Given the description of an element on the screen output the (x, y) to click on. 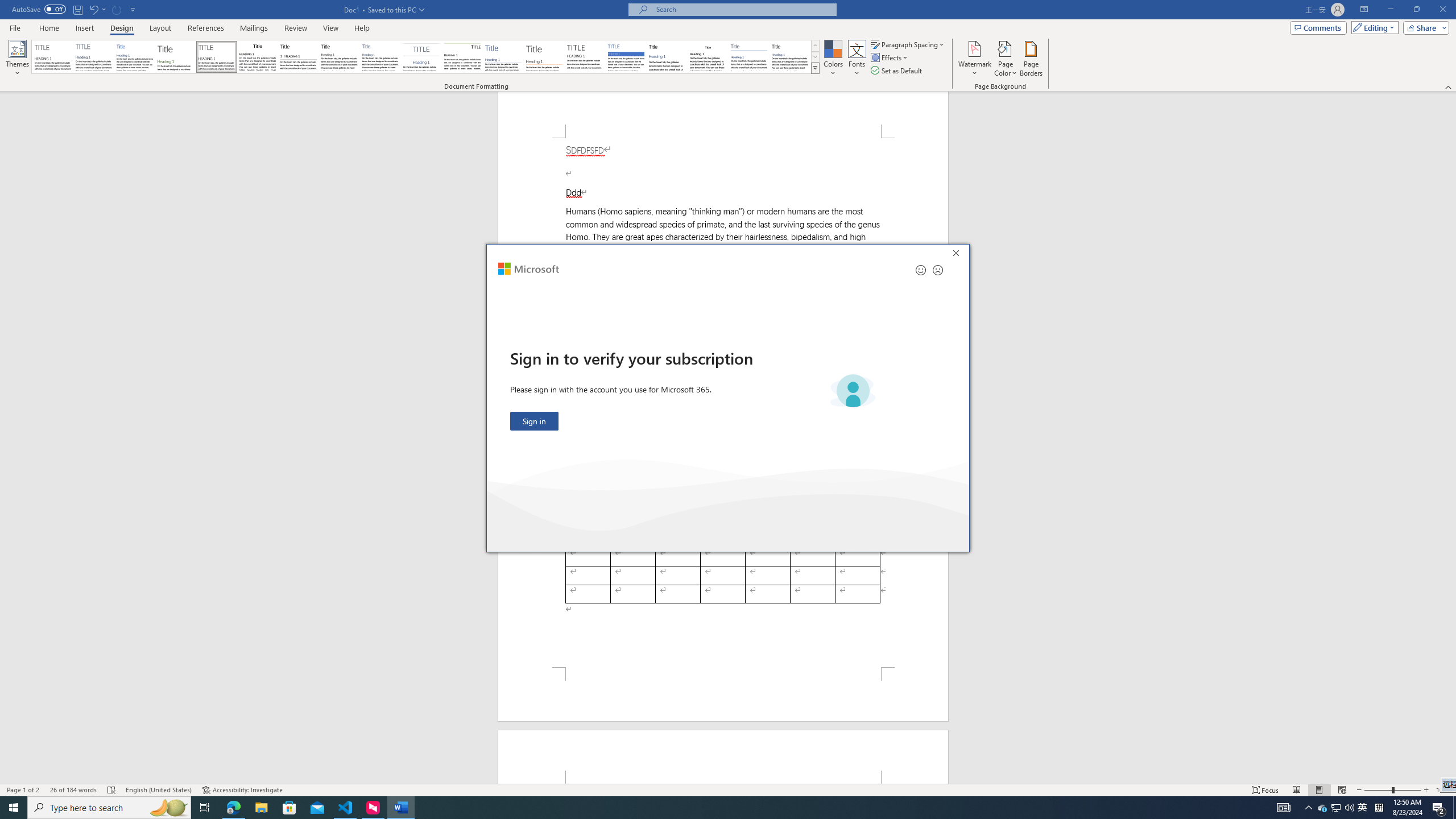
Lines (Simple) (1362, 807)
Black & White (Capitalized) (503, 56)
Send a frown for feedback (216, 56)
